Given the description of an element on the screen output the (x, y) to click on. 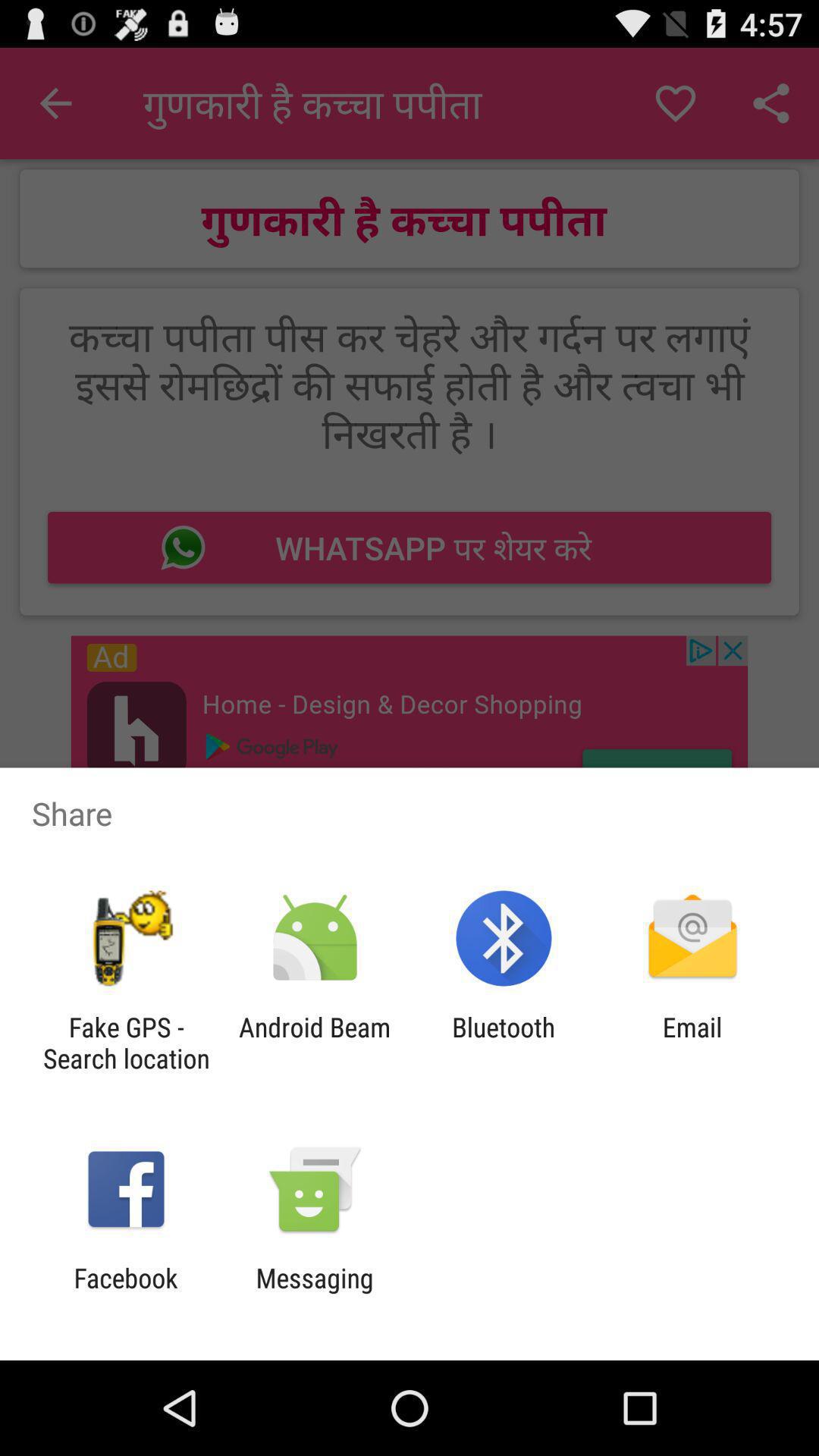
scroll to the bluetooth item (503, 1042)
